Given the description of an element on the screen output the (x, y) to click on. 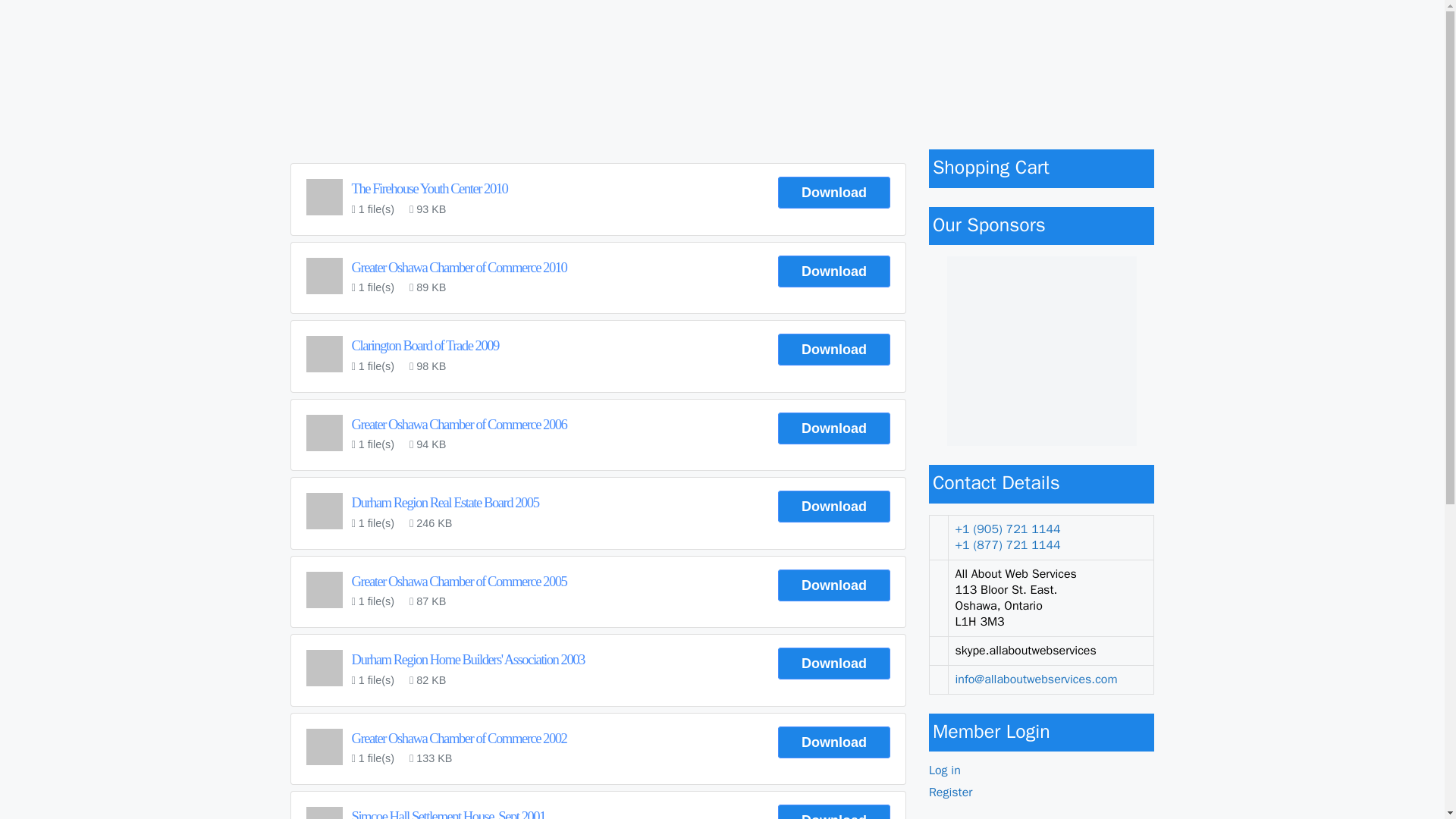
Download (833, 585)
Download (833, 192)
Simcoe Hall Settlement House, Sept 2001 (449, 813)
Clarington Board of Trade 2009 (425, 344)
Log in (944, 770)
Durham Region Home Builders' Association 2003 (468, 659)
Download (833, 811)
Greater Oshawa Chamber of Commerce 2010 (459, 267)
Greater Oshawa Chamber of Commerce 2005 (459, 580)
Download (833, 271)
Greater Oshawa Chamber of Commerce 2006 (459, 424)
Download (833, 742)
Durham Region Real Estate Board 2005 (445, 502)
Download (833, 428)
Register (950, 792)
